Given the description of an element on the screen output the (x, y) to click on. 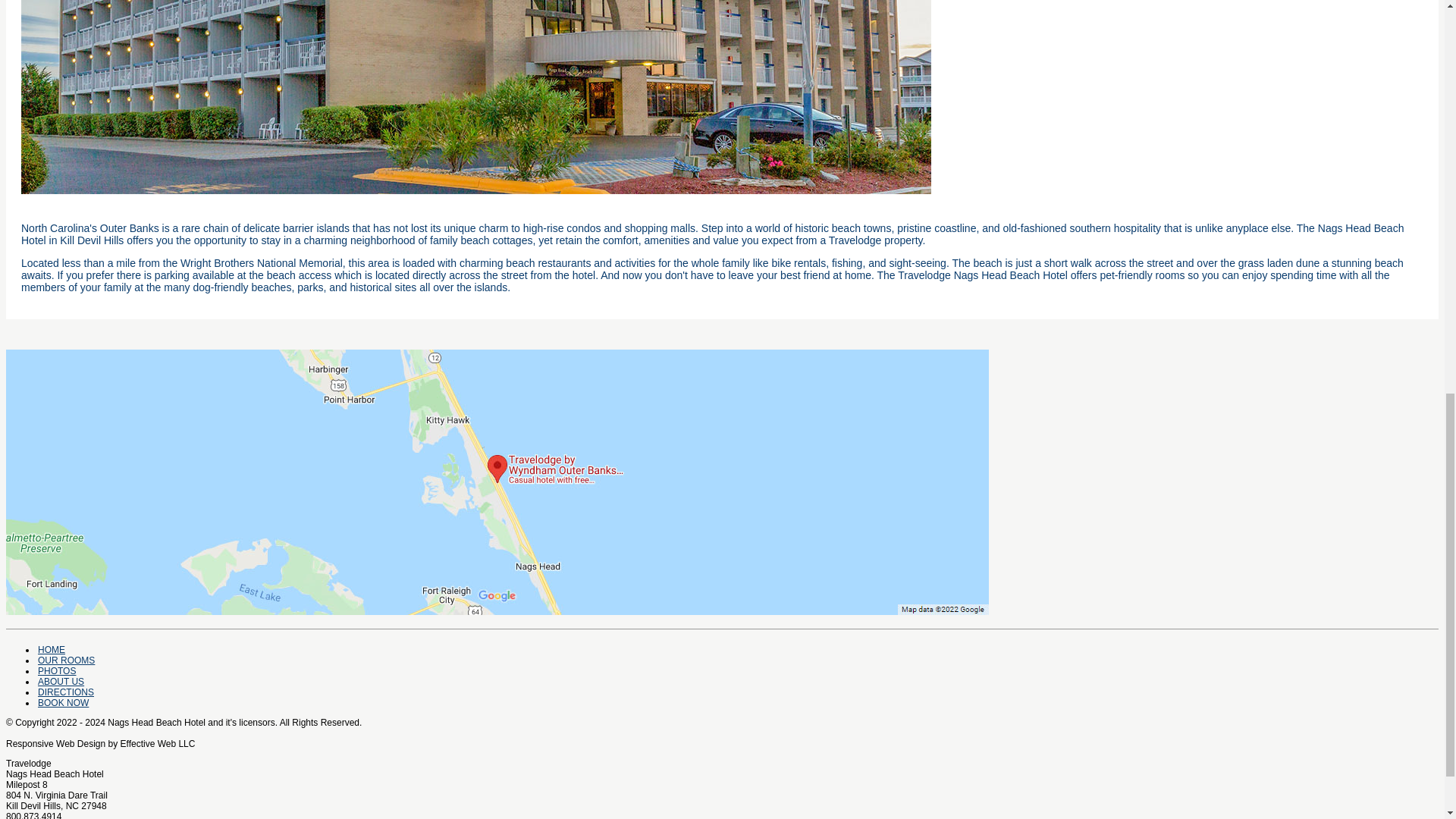
Book Now (62, 702)
Home (51, 649)
Directions (65, 692)
BOOK NOW (62, 702)
PHOTOS (56, 670)
OUR ROOMS (65, 660)
About Us (60, 681)
ABOUT US (60, 681)
Photos (56, 670)
HOME (51, 649)
DIRECTIONS (65, 692)
Our Rooms (65, 660)
